Given the description of an element on the screen output the (x, y) to click on. 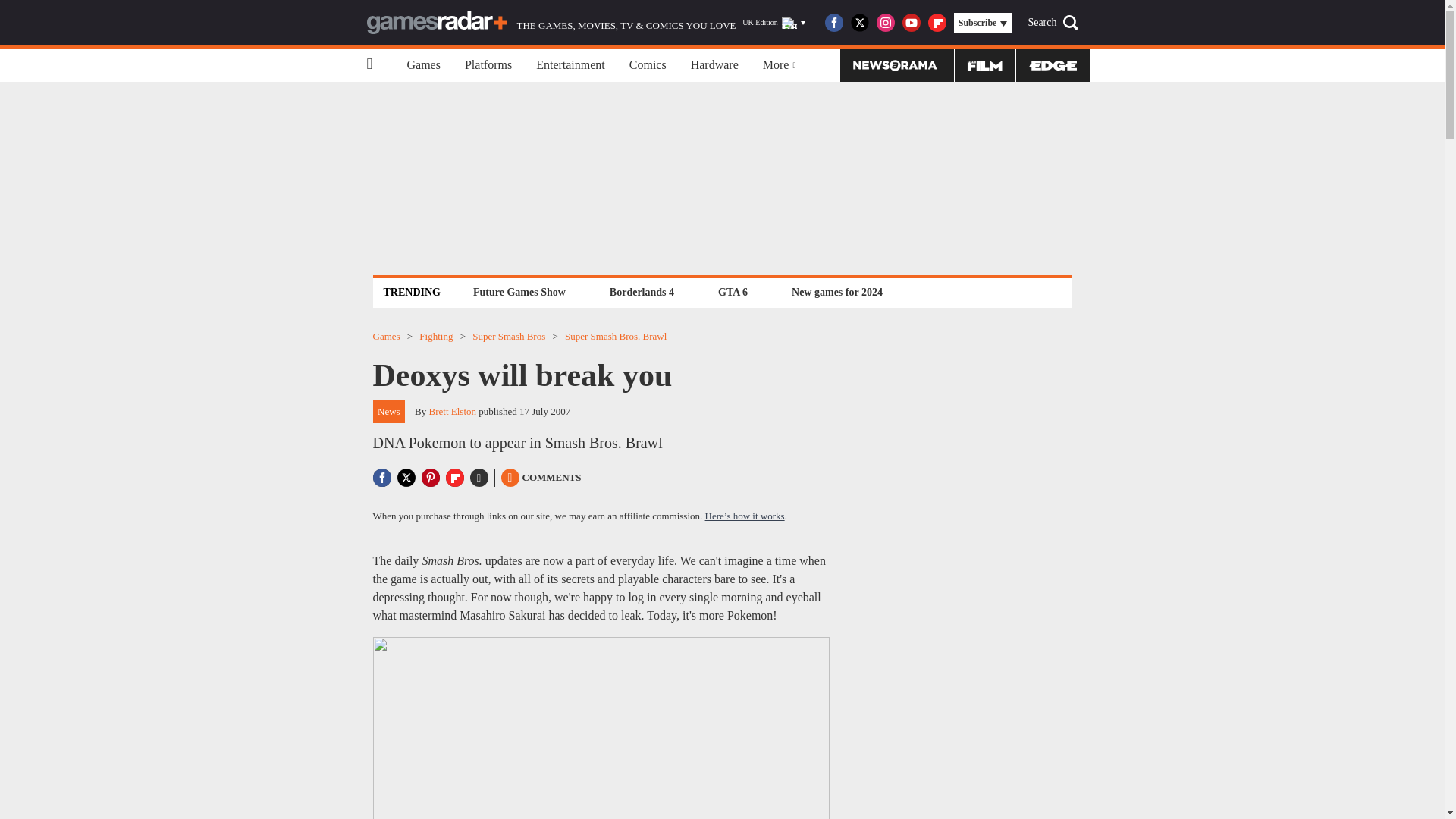
Future Games Show (518, 292)
Games (422, 64)
New games for 2024 (837, 292)
Hardware (714, 64)
Comics (647, 64)
GTA 6 (732, 292)
UK Edition (773, 22)
Platforms (488, 64)
Entertainment (570, 64)
Borderlands 4 (641, 292)
